Given the description of an element on the screen output the (x, y) to click on. 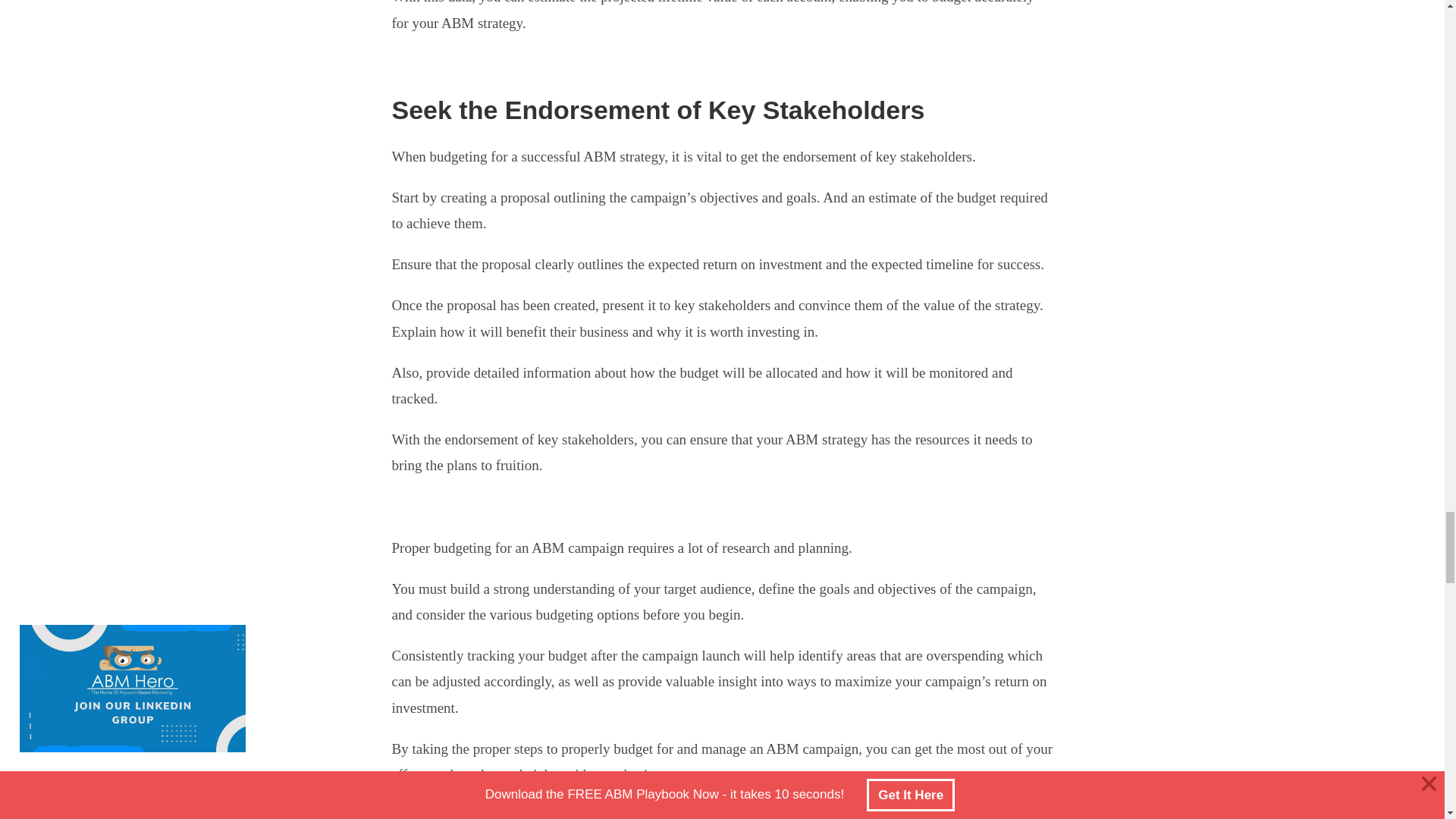
ACCOUNT-BASED MARKETING (611, 816)
ABM STRATEGY BUDGET (478, 816)
B2B MARKETING (726, 816)
